Given the description of an element on the screen output the (x, y) to click on. 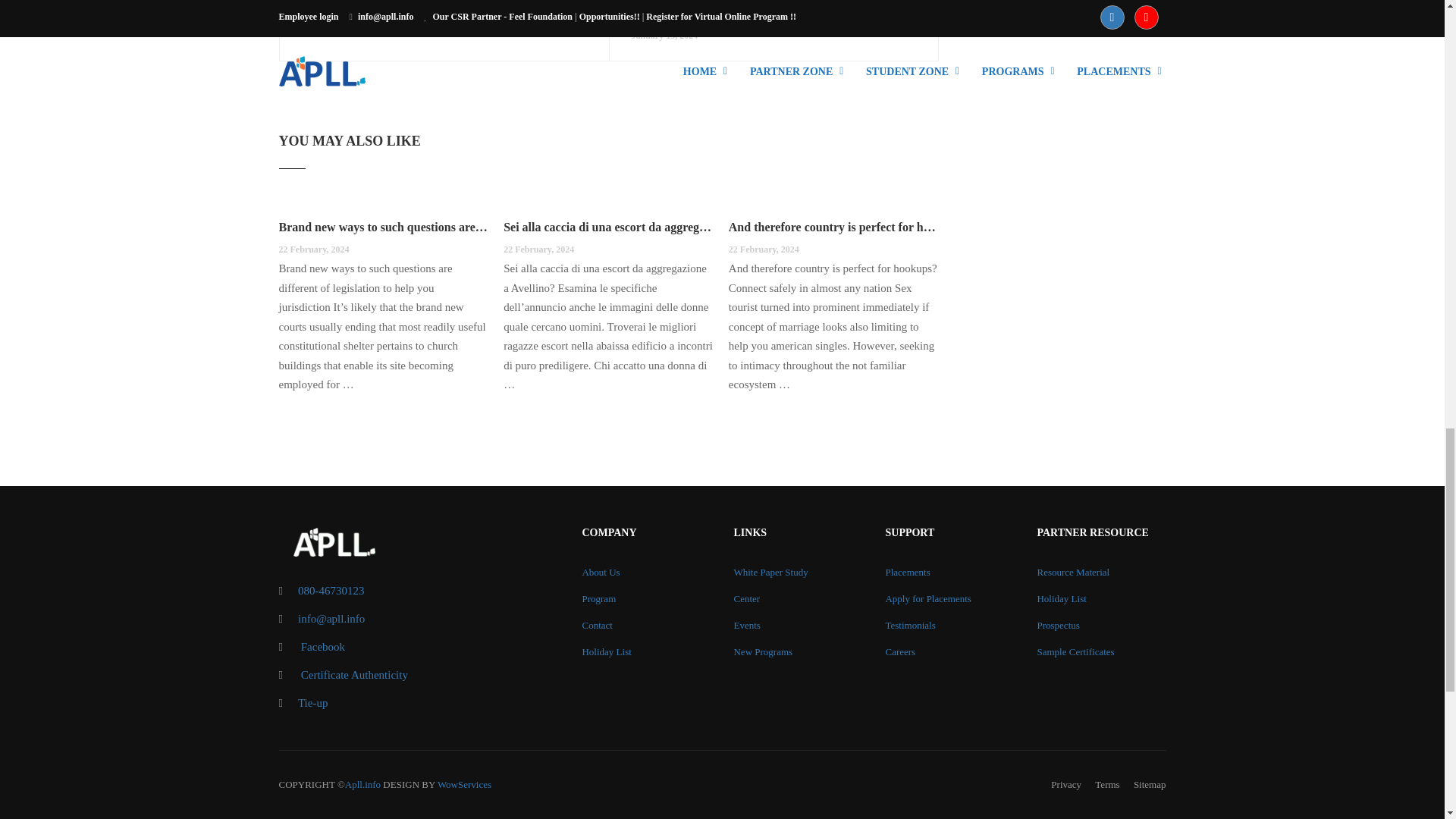
Sei alla caccia di una escort da aggregazione a Avellino? (608, 227)
